Given the description of an element on the screen output the (x, y) to click on. 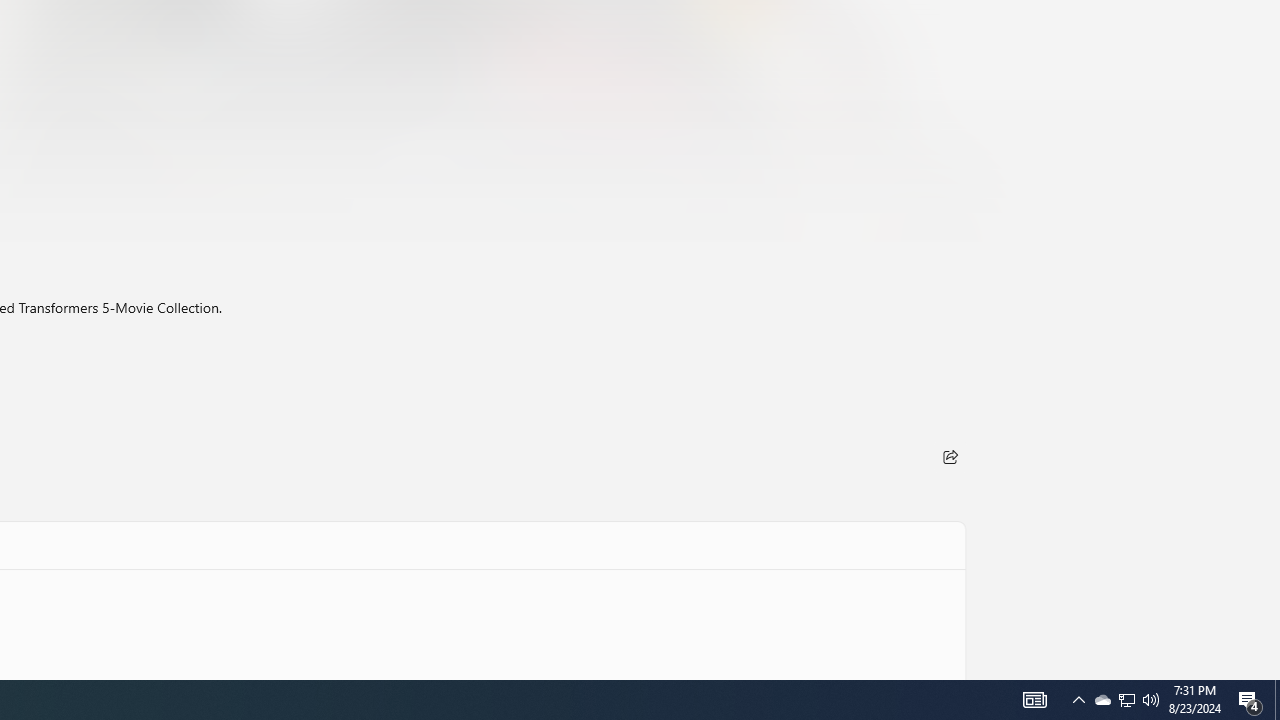
Share (950, 456)
